Given the description of an element on the screen output the (x, y) to click on. 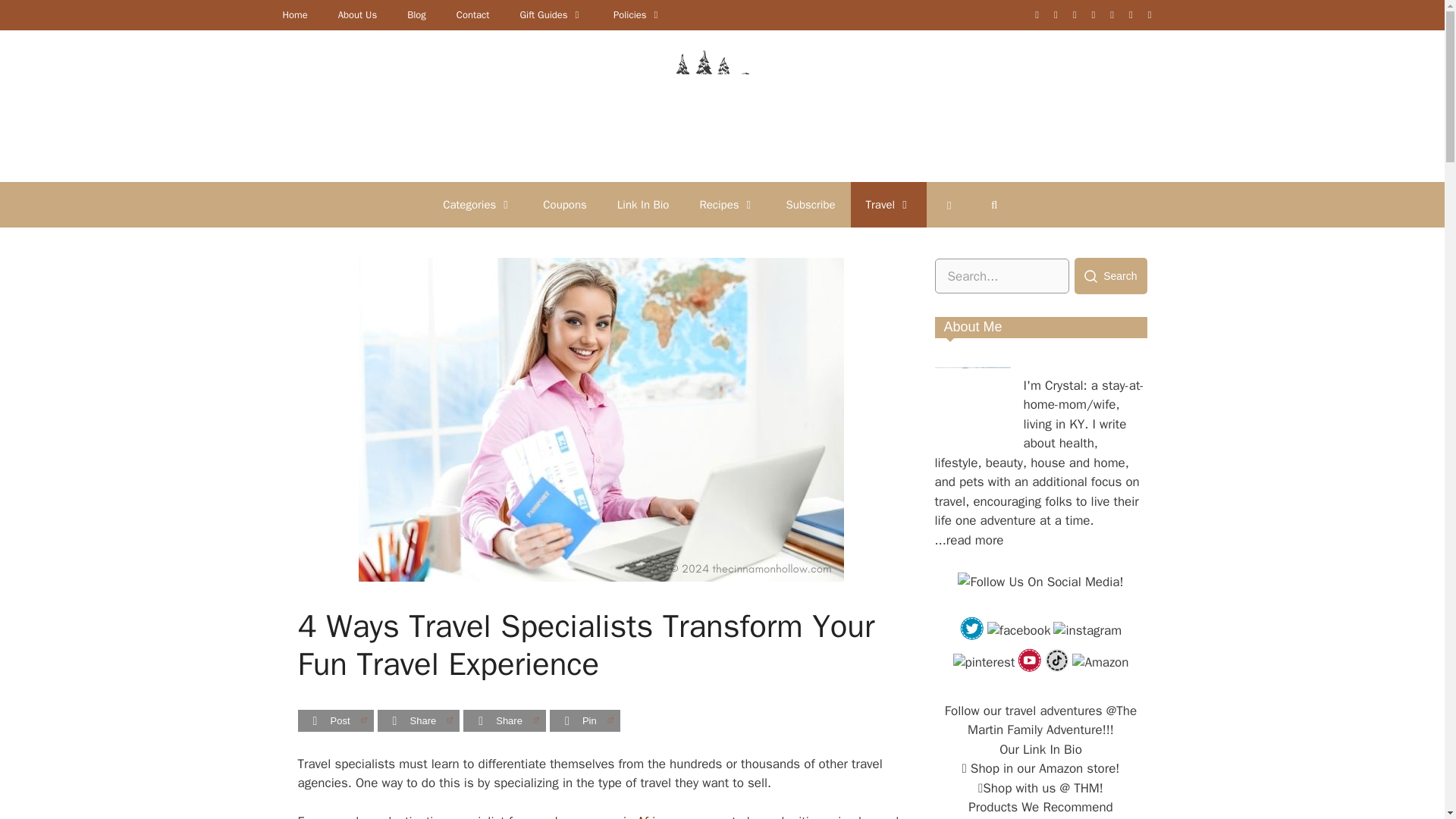
Subscribe To Our Newsletter (810, 204)
Blog (416, 15)
Contact (473, 15)
Link In Bio (643, 204)
Policies (637, 15)
About Us (357, 15)
Gift Guides (549, 15)
Categories (477, 204)
Home (293, 15)
Coupons (564, 204)
Recipes (727, 204)
